Given the description of an element on the screen output the (x, y) to click on. 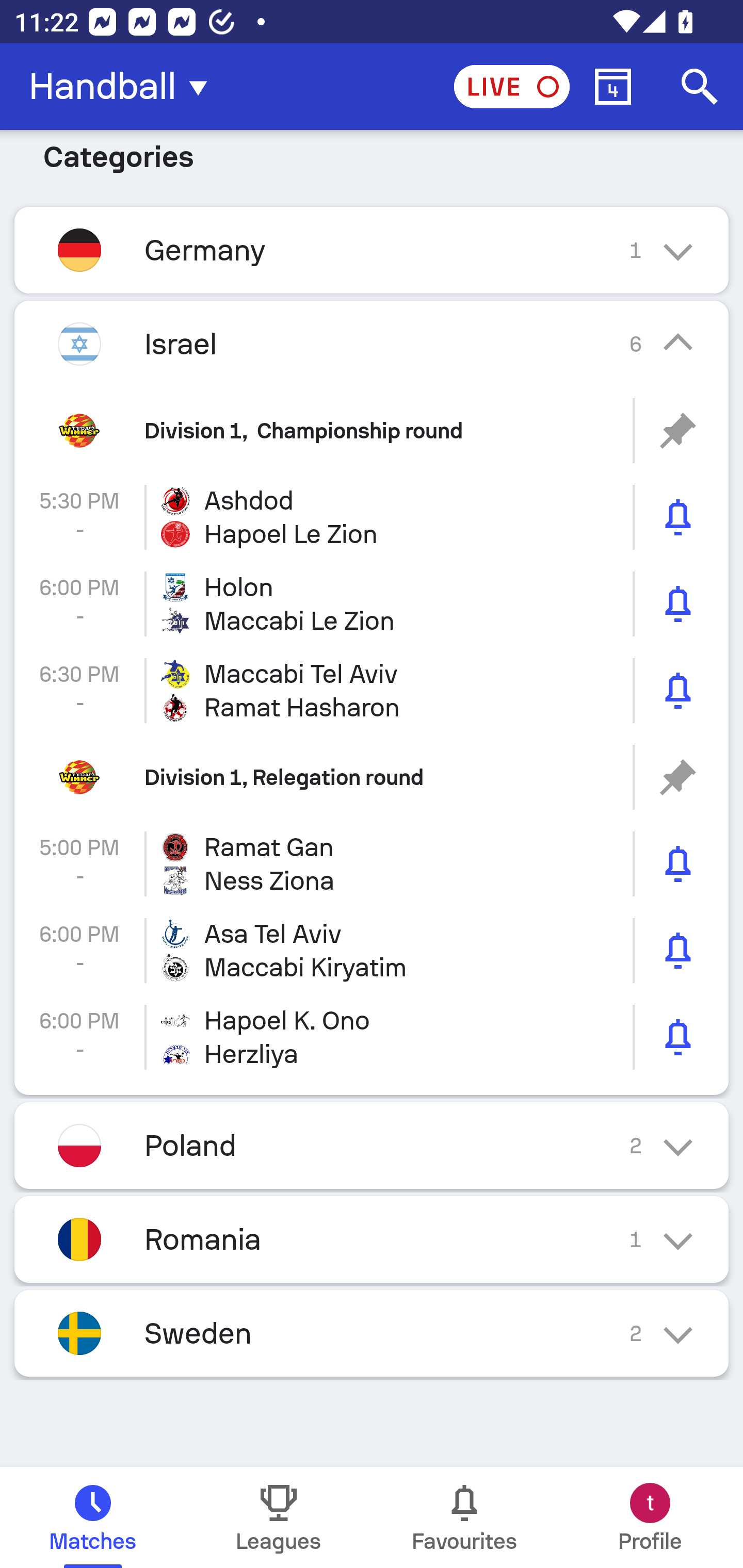
Handball (124, 86)
Calendar (612, 86)
Search (699, 86)
Categories (371, 166)
Germany 1 (371, 249)
Israel 6 (371, 344)
Division 1,  Championship round (371, 430)
5:30 PM - Ashdod Hapoel Le Zion (371, 517)
6:00 PM - Holon Maccabi Le Zion (371, 604)
6:30 PM - Maccabi Tel Aviv Ramat Hasharon (371, 690)
Division 1, Relegation round (371, 776)
5:00 PM - Ramat Gan Ness Ziona (371, 863)
6:00 PM - Asa Tel Aviv Maccabi Kiryatim (371, 950)
6:00 PM - Hapoel K. Ono Herzliya (371, 1037)
Poland 2 (371, 1145)
Romania 1 (371, 1239)
Sweden 2 (371, 1333)
Leagues (278, 1517)
Favourites (464, 1517)
Profile (650, 1517)
